Given the description of an element on the screen output the (x, y) to click on. 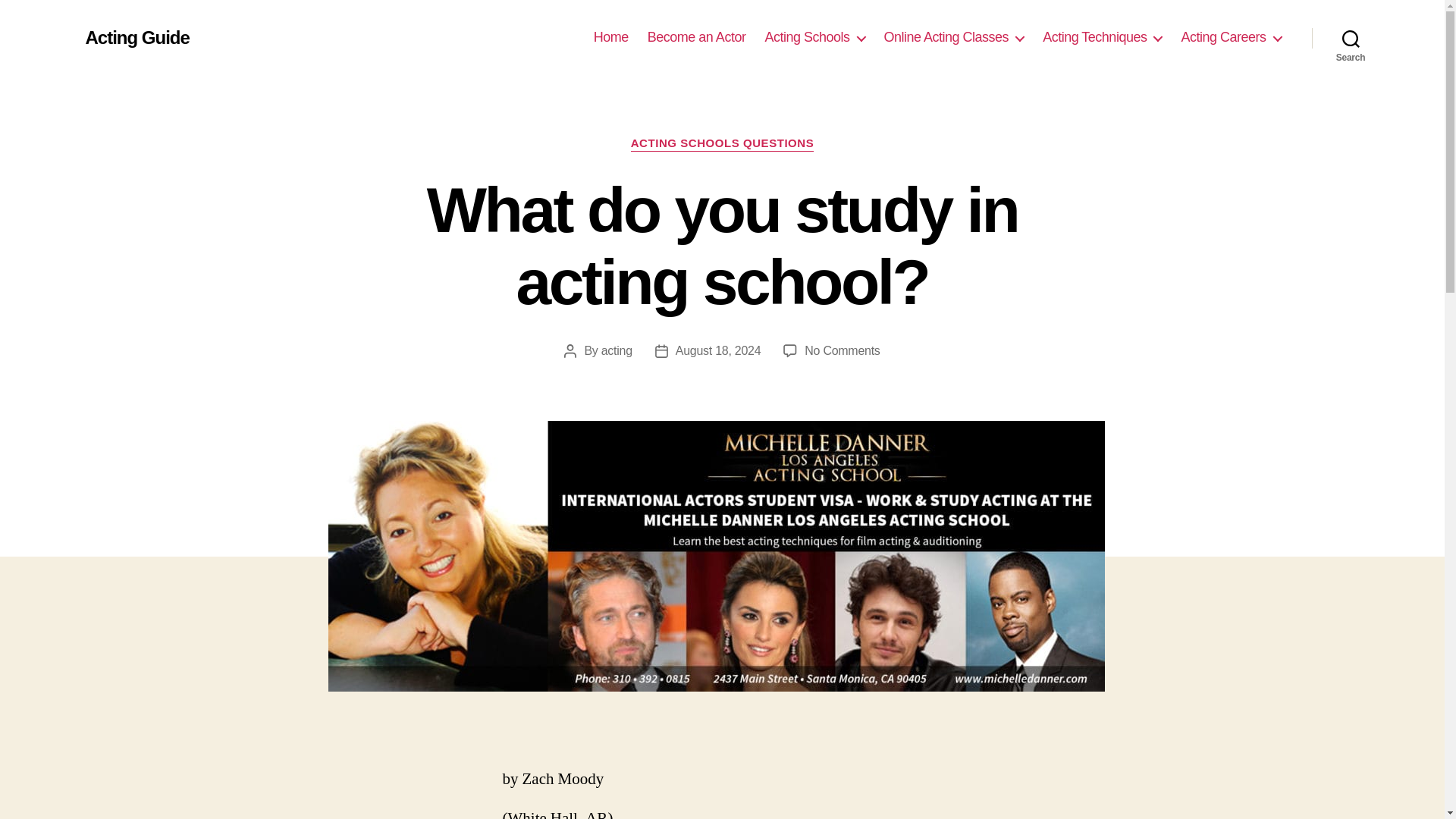
Become an Actor (696, 37)
Acting Schools (814, 37)
Online Acting Classes (954, 37)
Home (611, 37)
Acting Guide (136, 37)
